Given the description of an element on the screen output the (x, y) to click on. 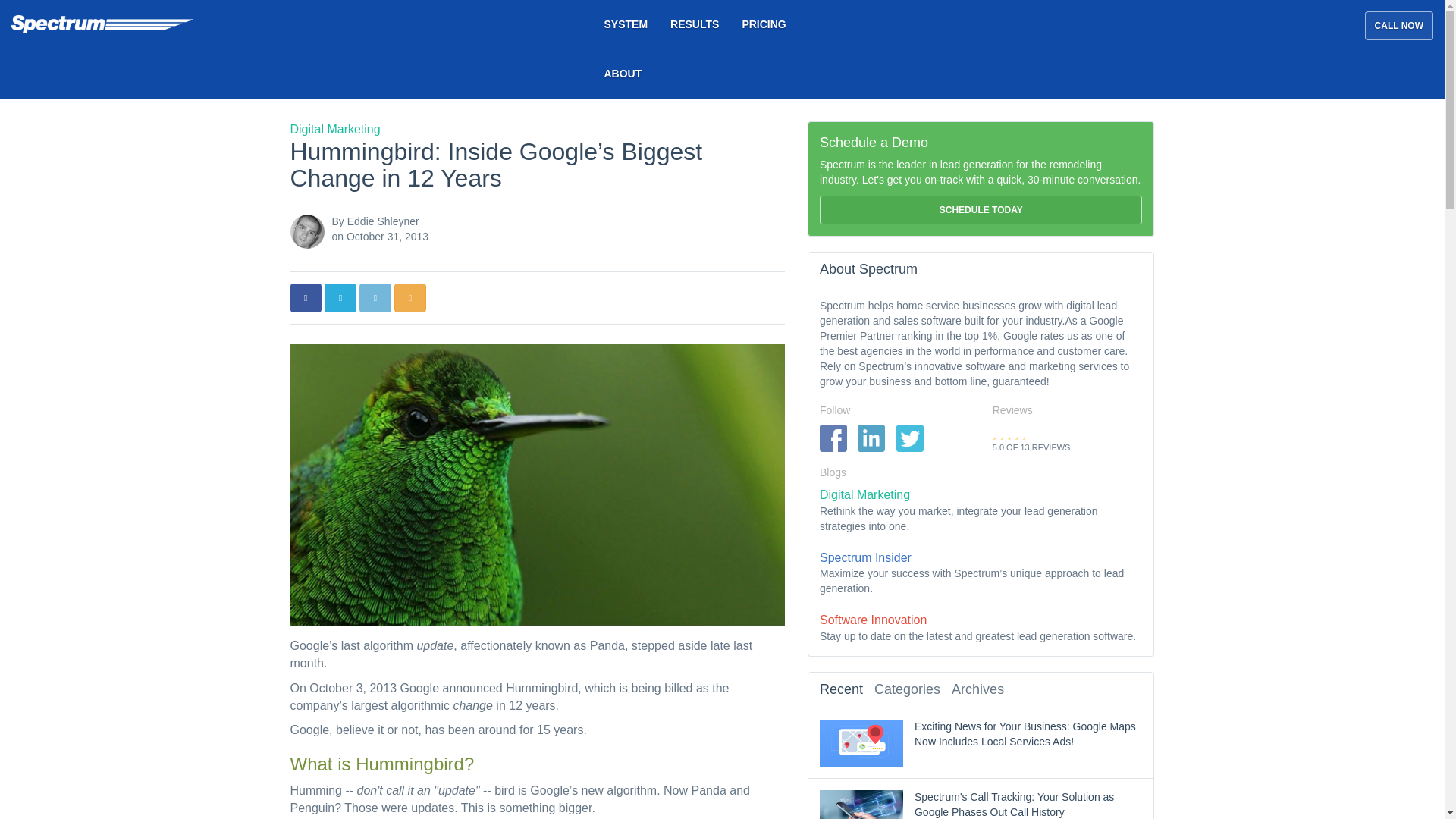
PRICING (763, 24)
5.0 Stars (1009, 431)
RESULTS (694, 24)
ABOUT (622, 73)
SYSTEM (625, 24)
CALL NOW (1398, 25)
